Given the description of an element on the screen output the (x, y) to click on. 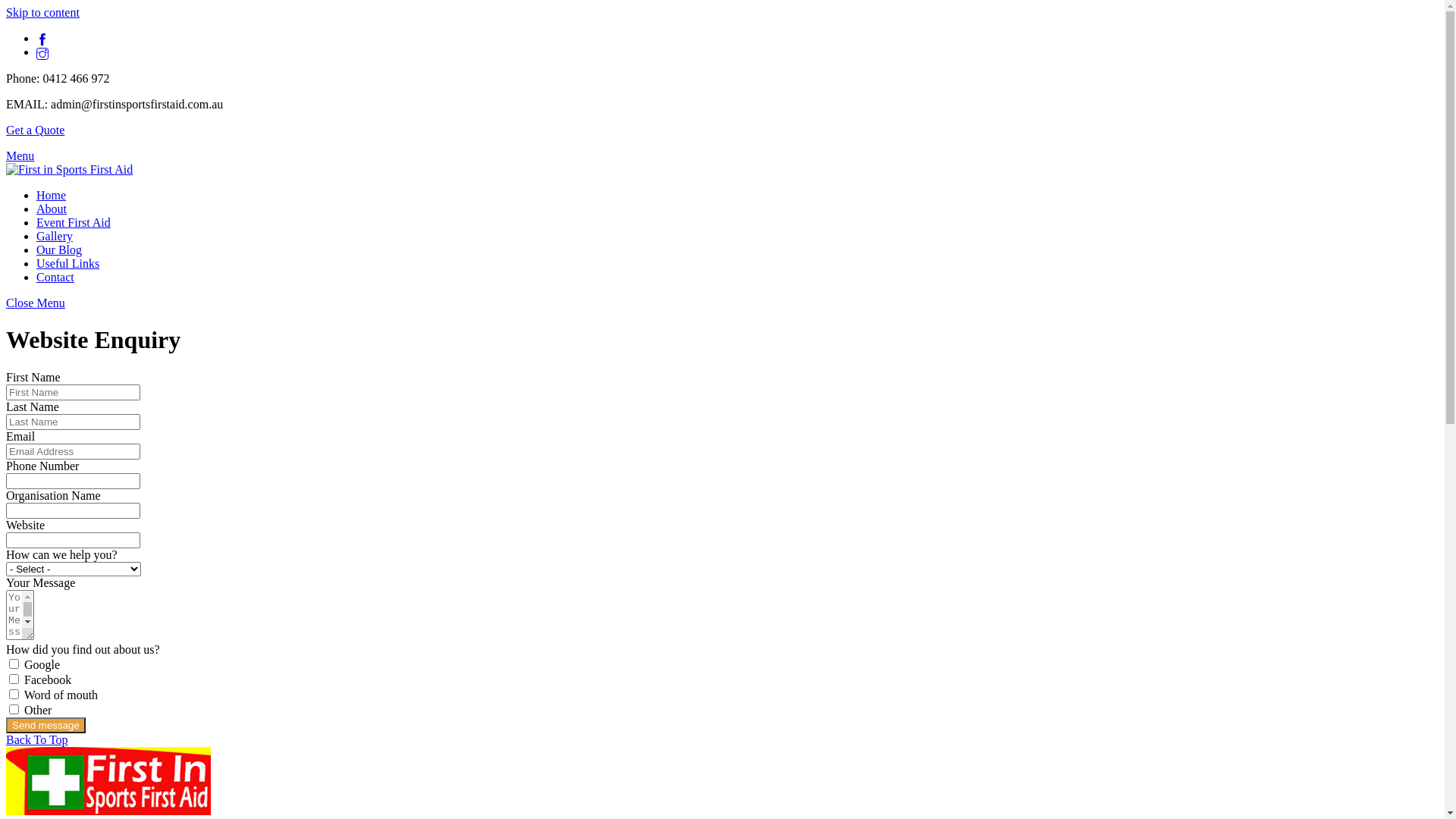
FISFA4 Element type: hover (69, 169)
Gallery Element type: text (54, 235)
Close Menu Element type: text (35, 302)
Home Element type: text (50, 194)
Menu Element type: text (20, 155)
First in Sports First Aid Element type: hover (108, 810)
Our Blog Element type: text (58, 249)
FISFA4 Element type: hover (108, 780)
Get a Quote Element type: text (35, 129)
Send message Element type: text (45, 725)
Skip to content Element type: text (42, 12)
Event First Aid Element type: text (73, 222)
Useful Links Element type: text (67, 263)
Back To Top Element type: text (37, 739)
Contact Element type: text (55, 276)
First in Sports First Aid Element type: hover (69, 169)
About Element type: text (51, 208)
